Given the description of an element on the screen output the (x, y) to click on. 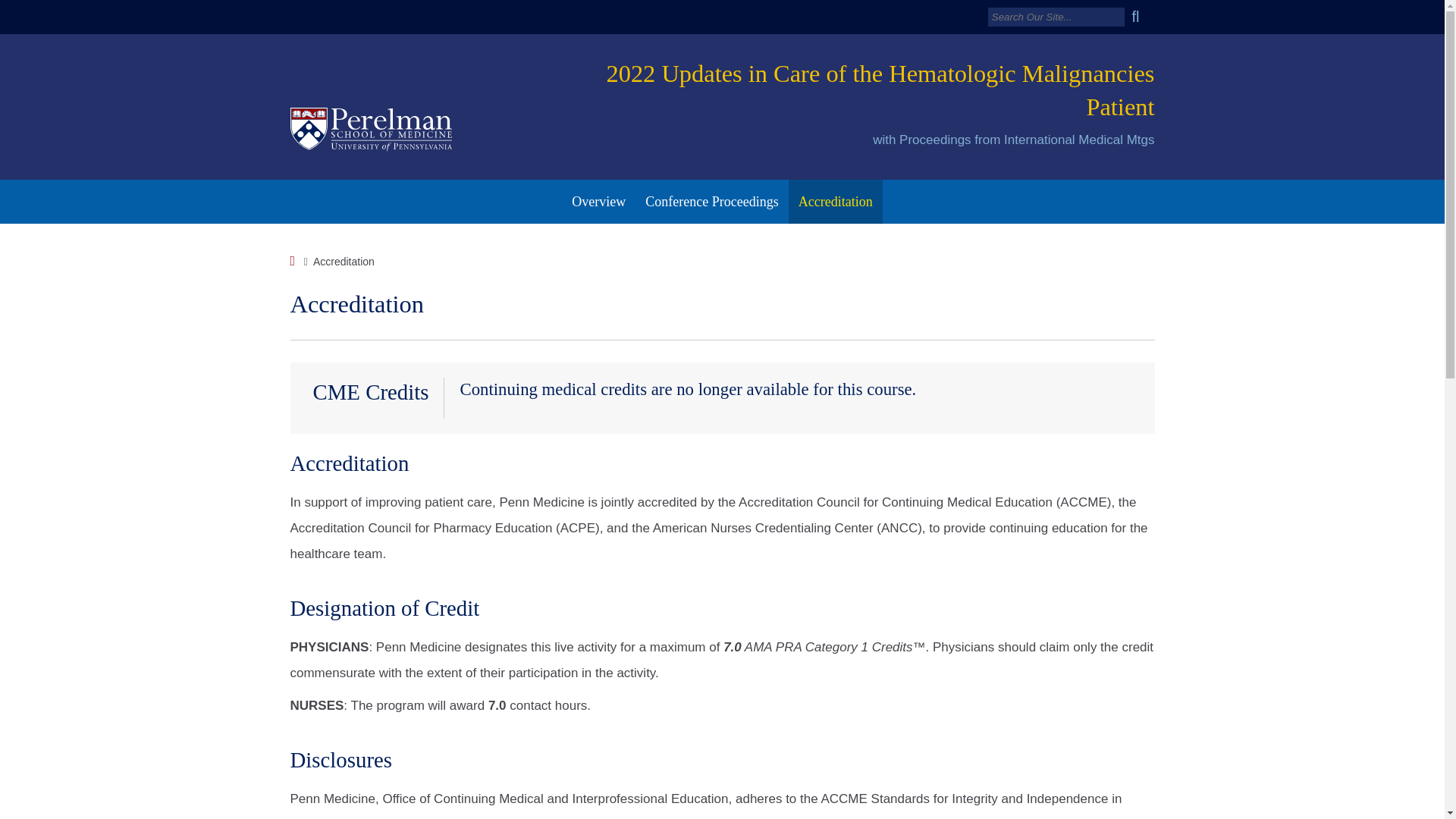
Overview (598, 201)
2022 Updates in Care of the Hematologic Malignancies Patient (879, 89)
Search (1056, 16)
Conference Proceedings (710, 201)
Submit search (1141, 16)
Accreditation (835, 201)
